Given the description of an element on the screen output the (x, y) to click on. 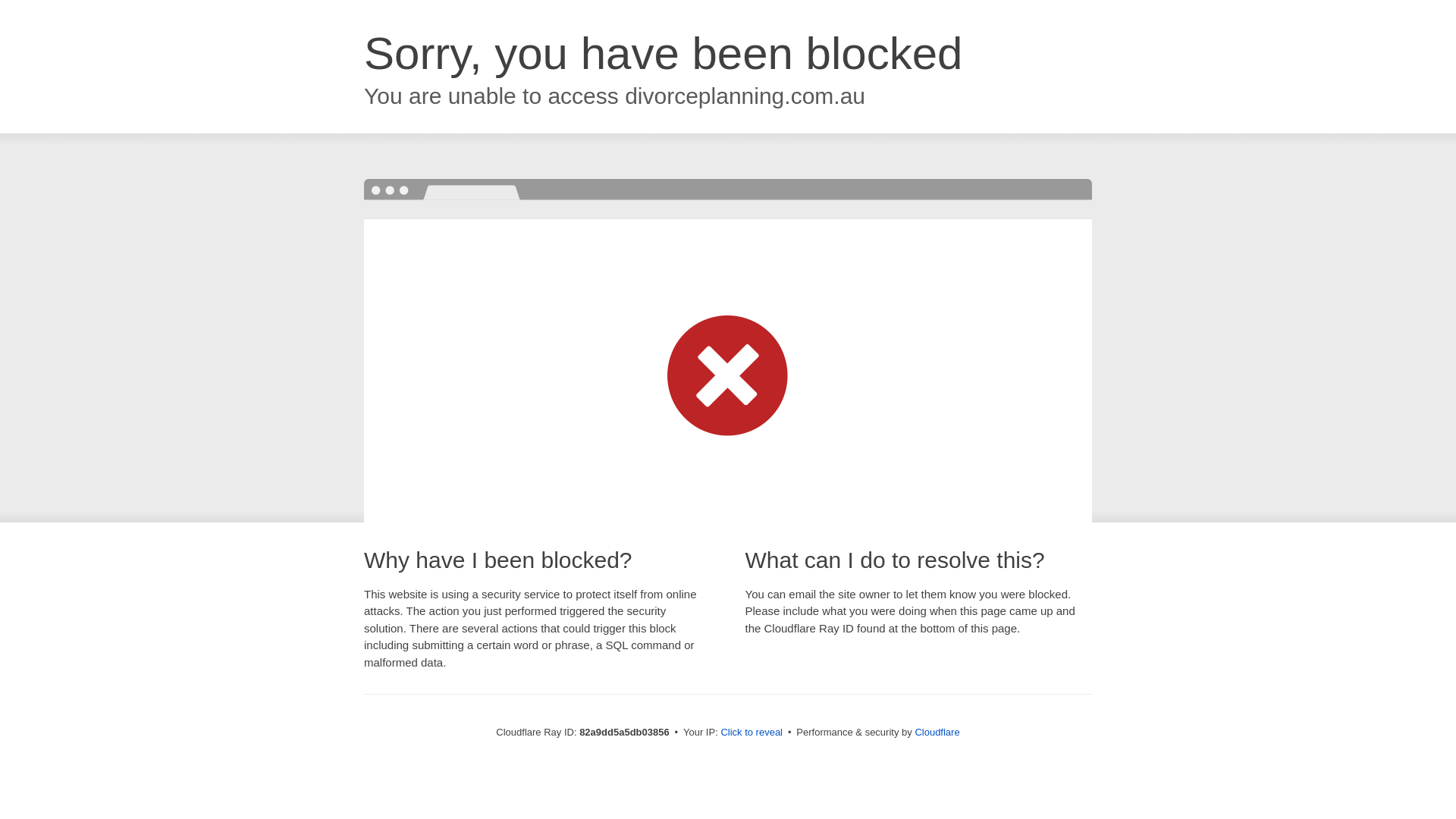
Click to reveal Element type: text (751, 732)
Cloudflare Element type: text (936, 731)
